Given the description of an element on the screen output the (x, y) to click on. 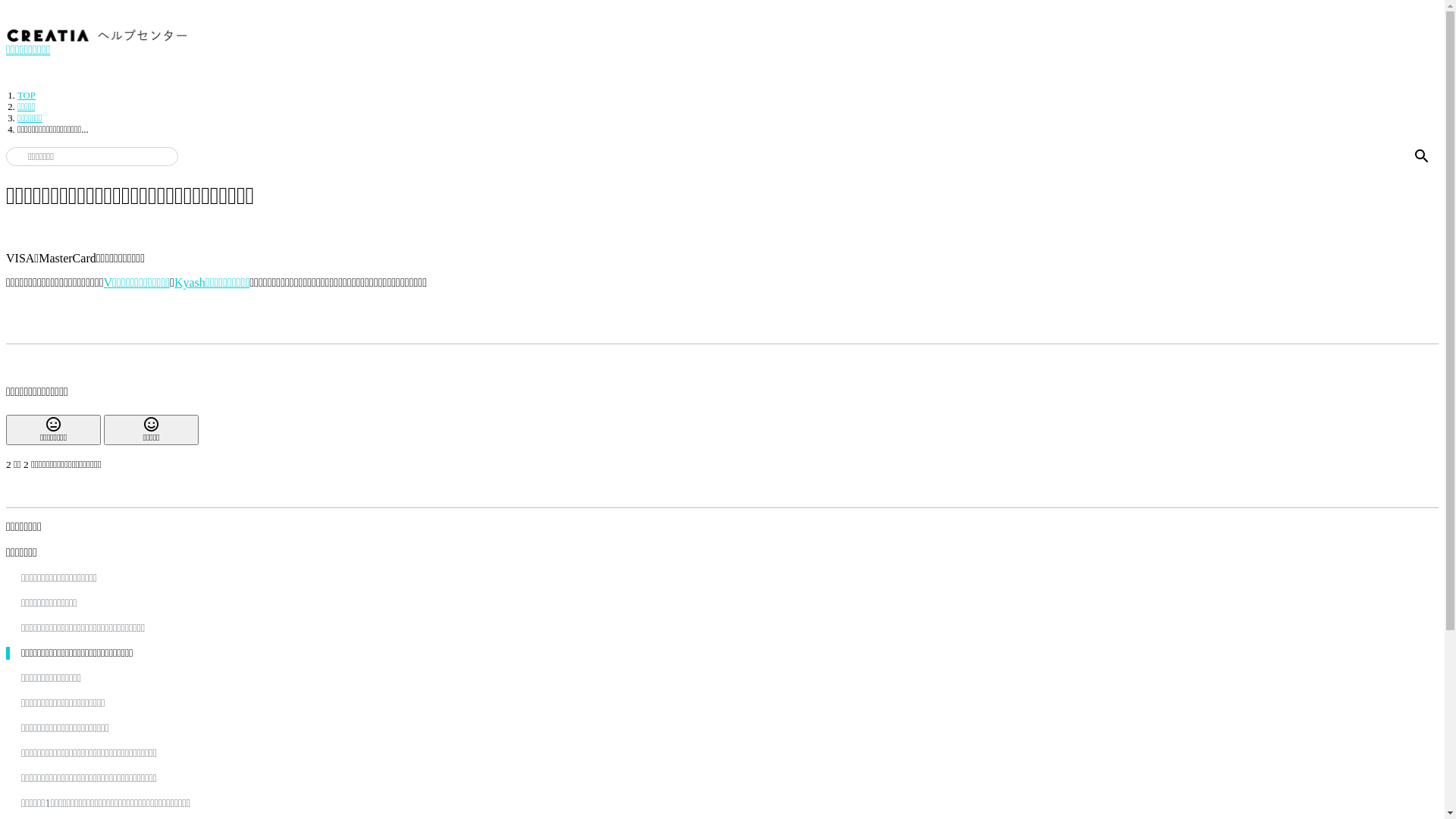
TOP Element type: text (26, 95)
